Given the description of an element on the screen output the (x, y) to click on. 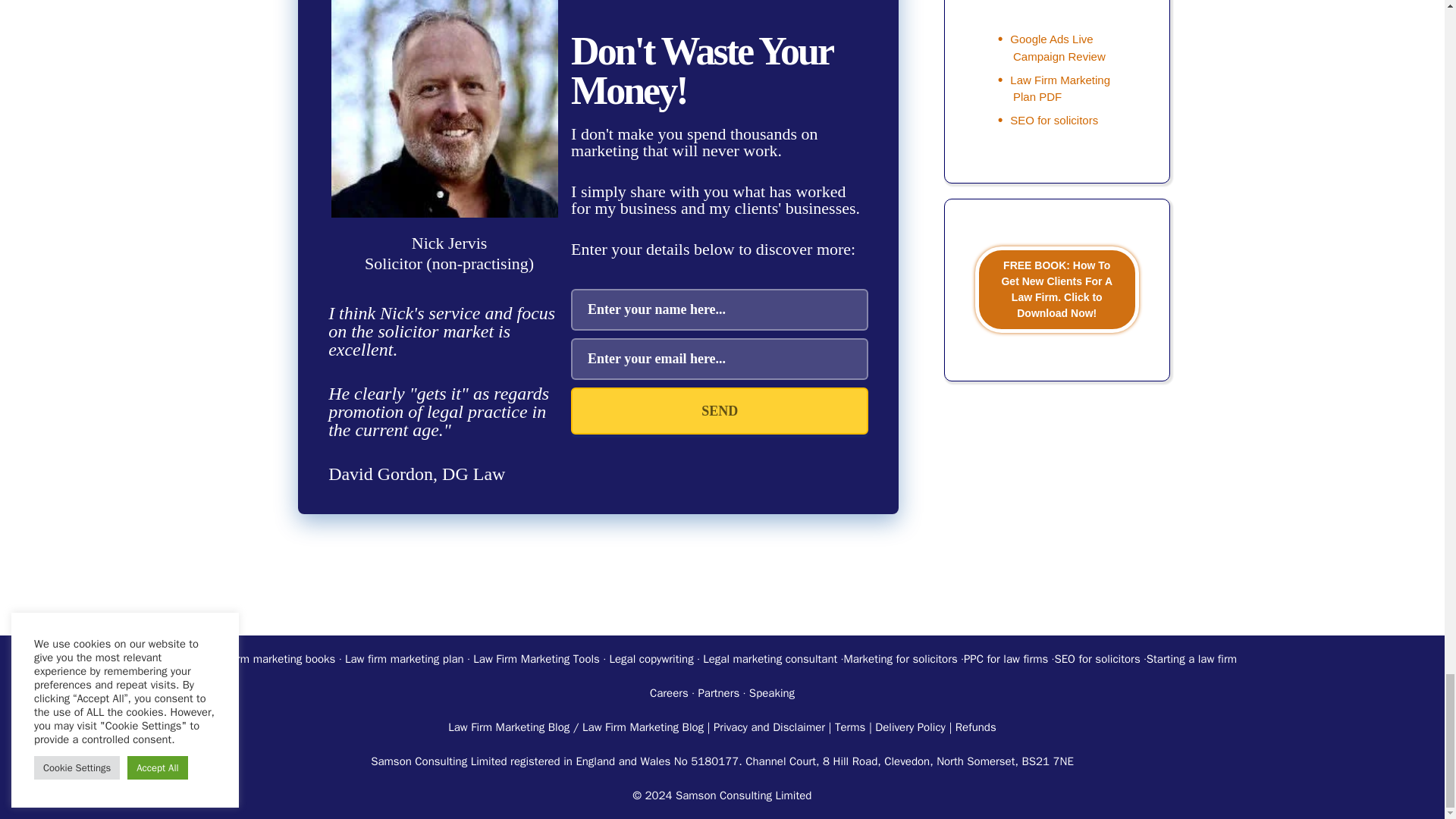
SEND (718, 410)
